Given the description of an element on the screen output the (x, y) to click on. 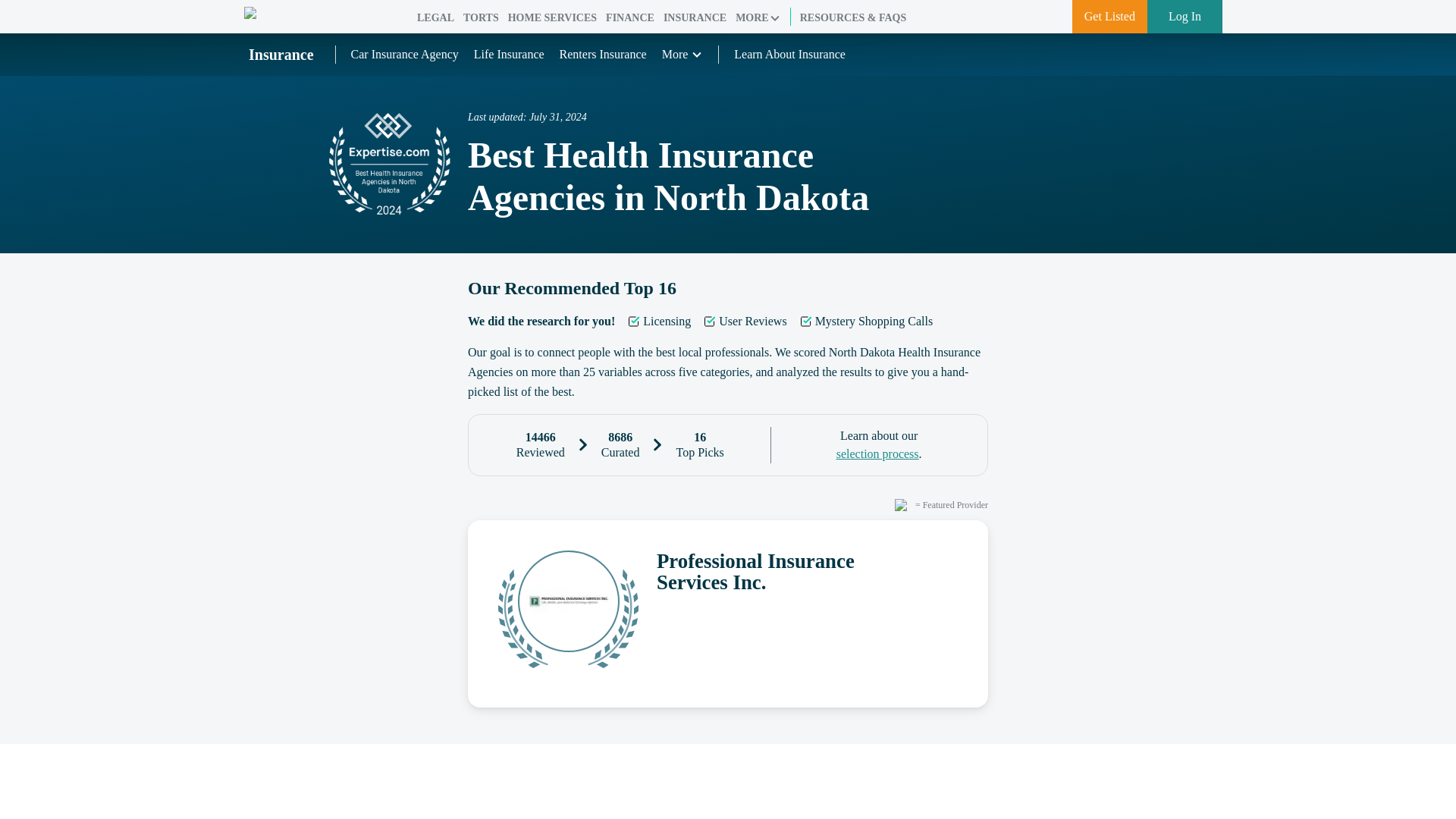
Professional Insurance Services Inc. (727, 613)
Life Insurance (509, 53)
Professional Insurance Services Inc. (807, 571)
Learn About Insurance (789, 54)
MORE (757, 17)
HOME SERVICES (552, 17)
TORTS (481, 17)
FINANCE (629, 17)
Insurance (281, 53)
Car Insurance Agency (404, 53)
Get Listed (1109, 16)
INSURANCE (694, 17)
More (682, 54)
Renters Insurance (602, 53)
selection process (876, 453)
